Given the description of an element on the screen output the (x, y) to click on. 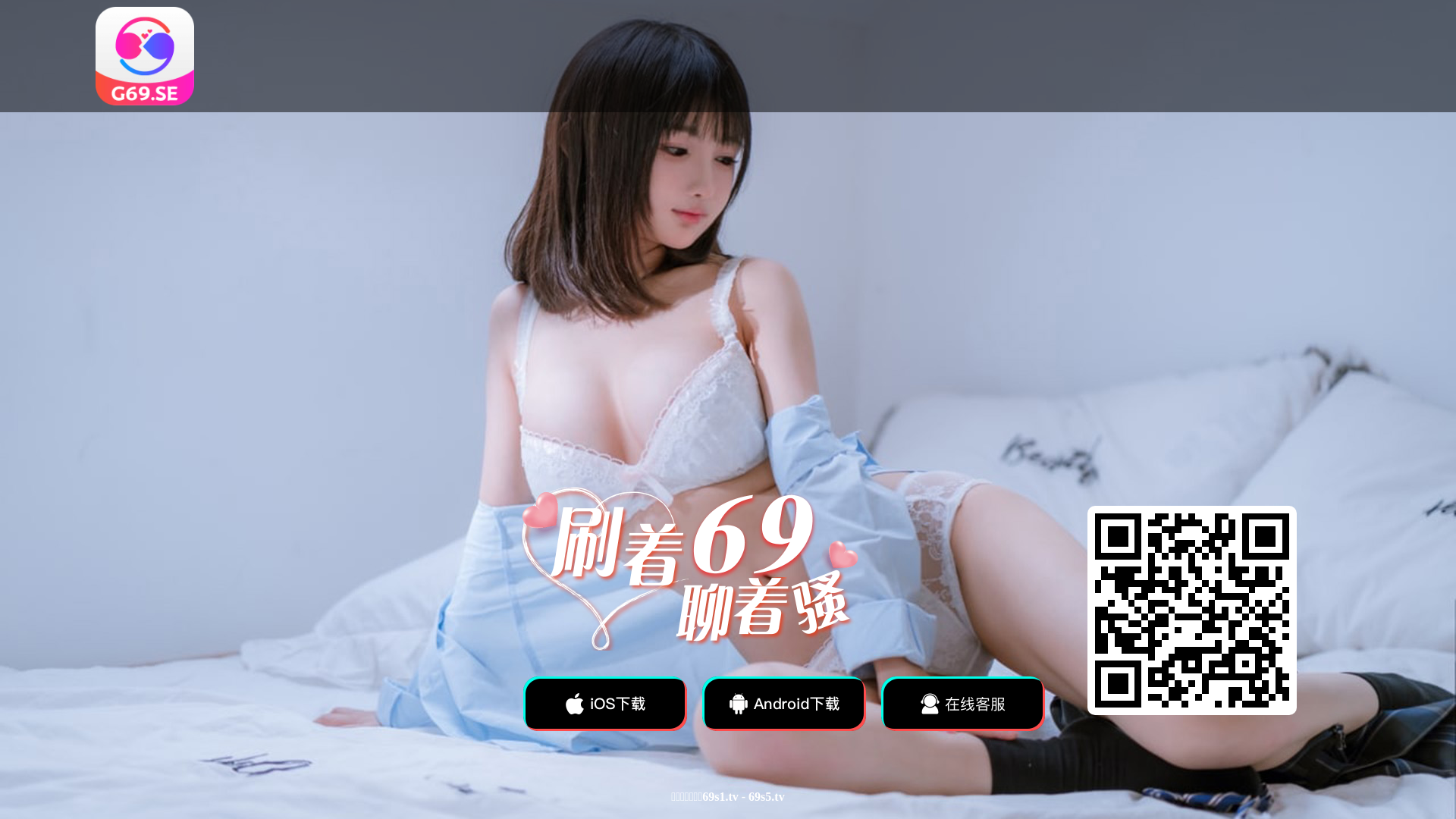
https://6jh265.com:8888/ Element type: hover (1192, 610)
